Given the description of an element on the screen output the (x, y) to click on. 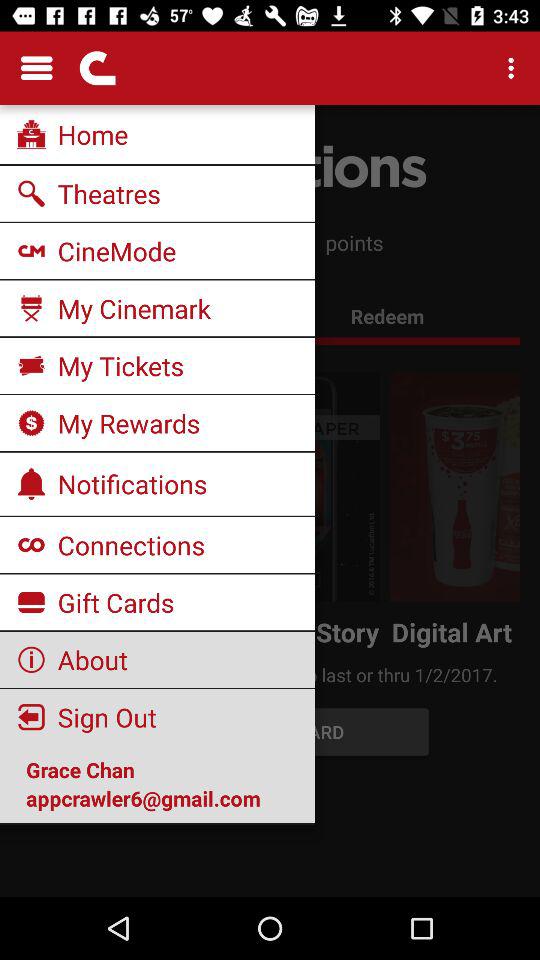
select the second icon which is below bell icon (31, 602)
select the second icon which is at the top left (94, 68)
